Given the description of an element on the screen output the (x, y) to click on. 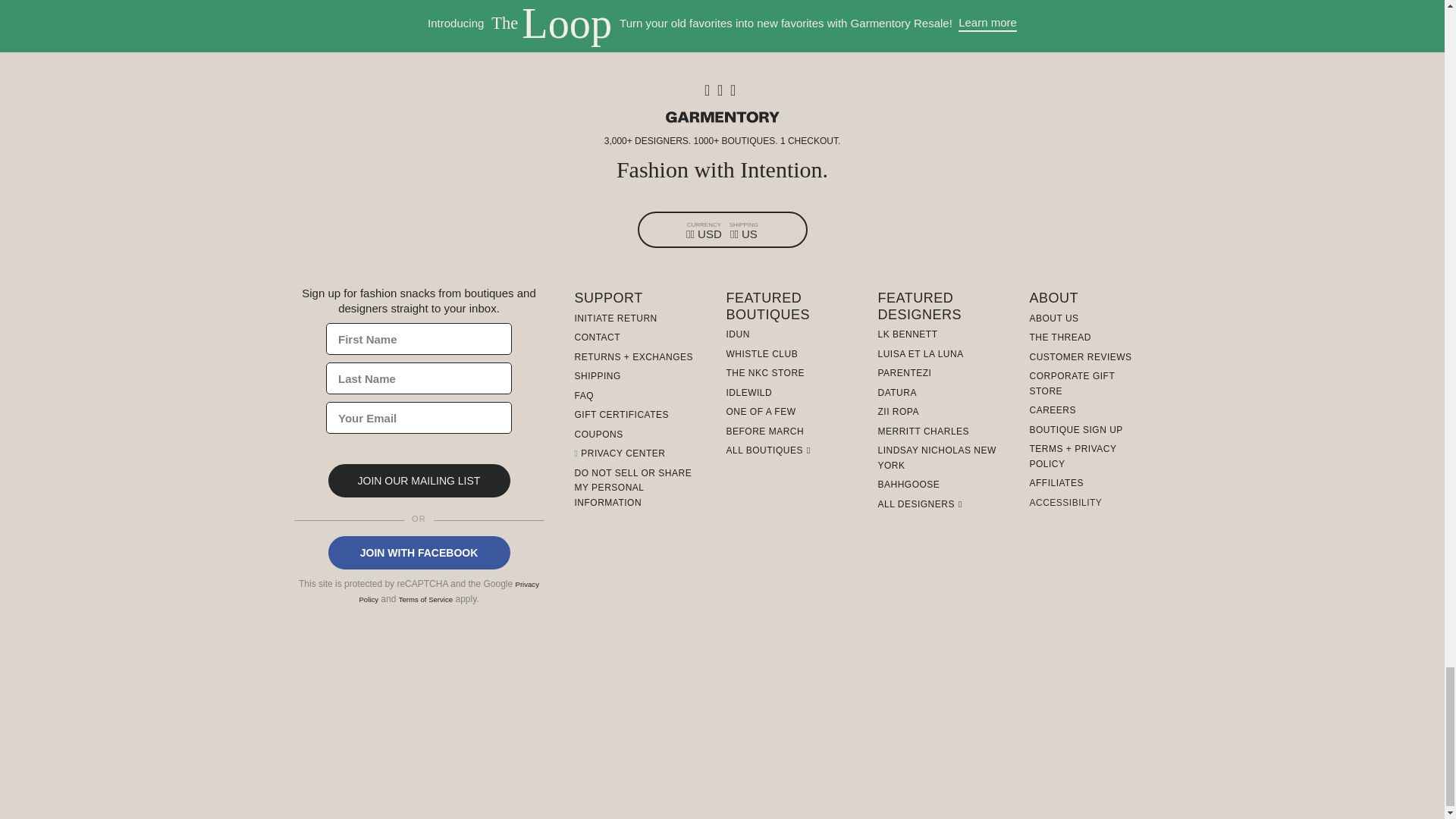
Join Our Mailing List (418, 480)
